Given the description of an element on the screen output the (x, y) to click on. 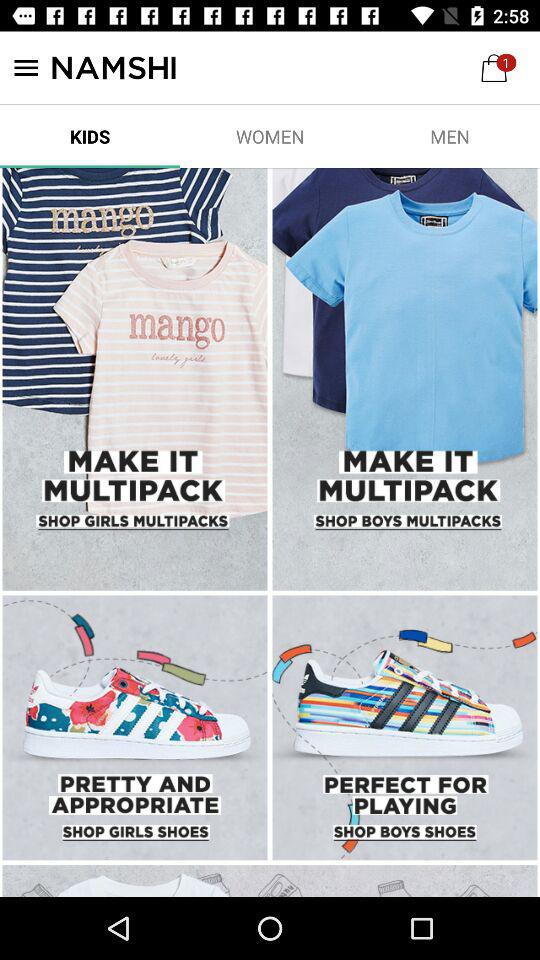
launch item to the right of the kids item (270, 136)
